Given the description of an element on the screen output the (x, y) to click on. 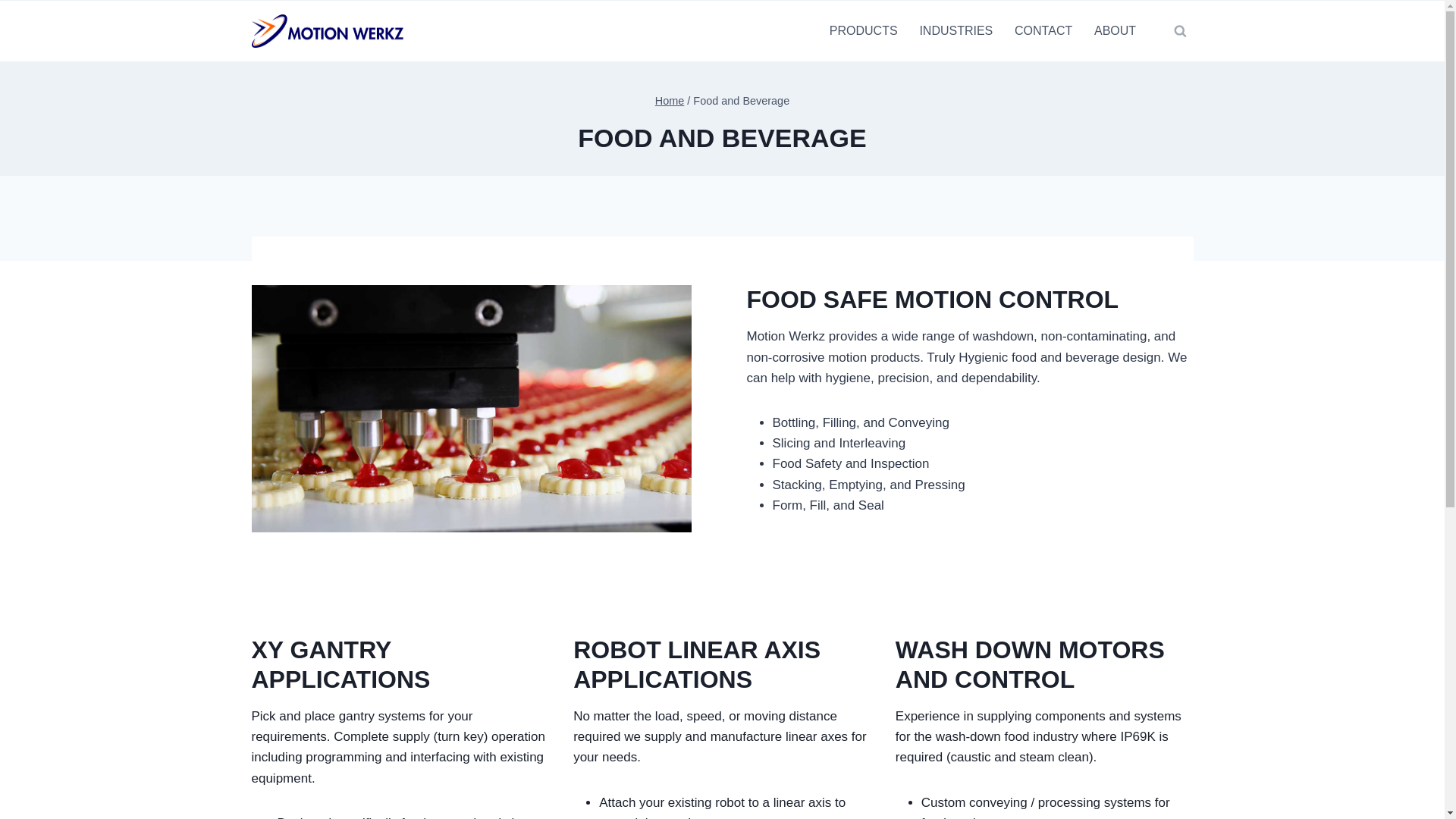
PRODUCTS (863, 31)
Home (669, 101)
INDUSTRIES (956, 31)
CONTACT (1043, 31)
ABOUT (1115, 31)
